Given the description of an element on the screen output the (x, y) to click on. 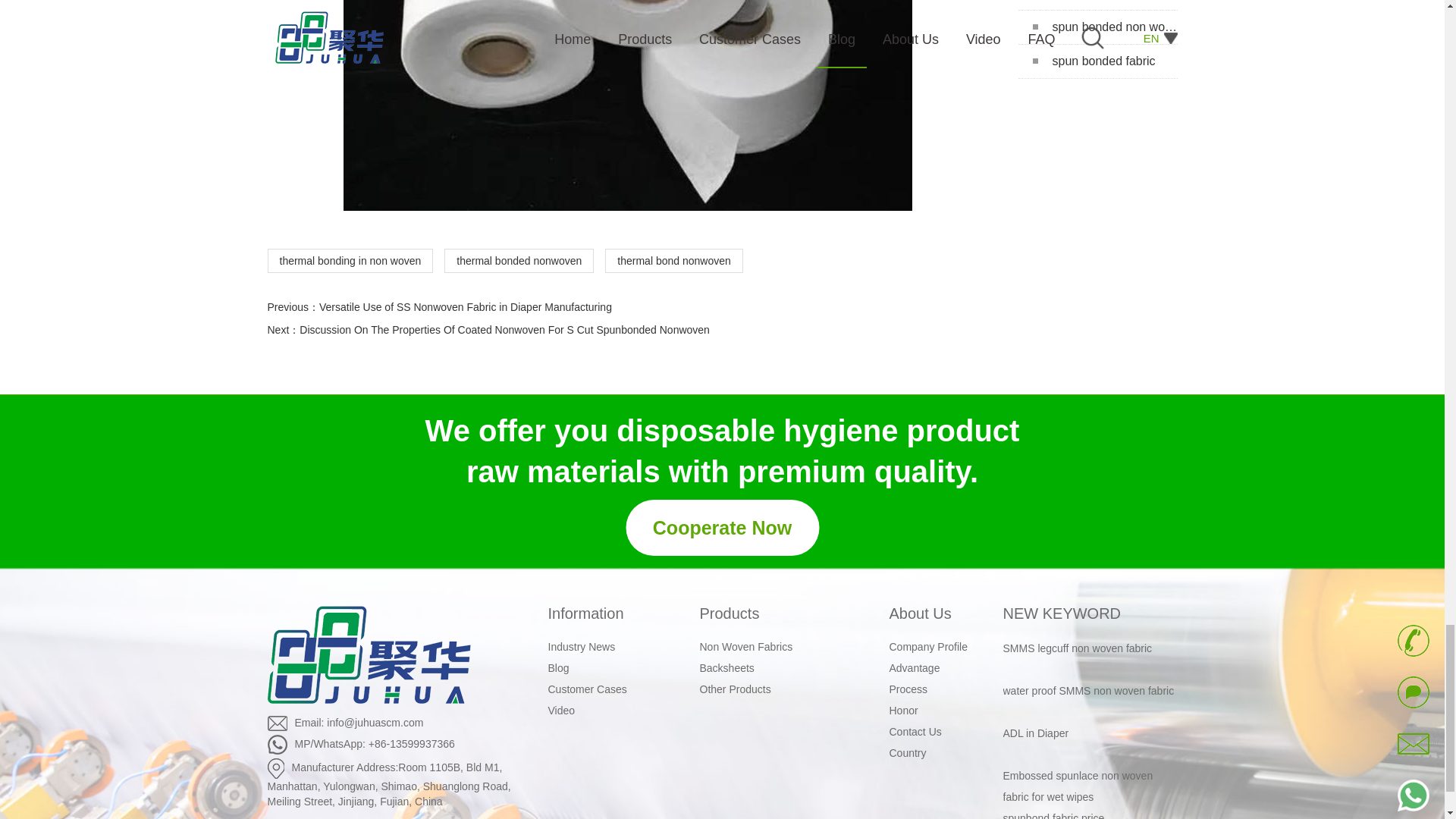
spunbond fabric price (1096, 5)
thermal bonding in non woven (626, 105)
thermal bonding in non woven (349, 260)
